Given the description of an element on the screen output the (x, y) to click on. 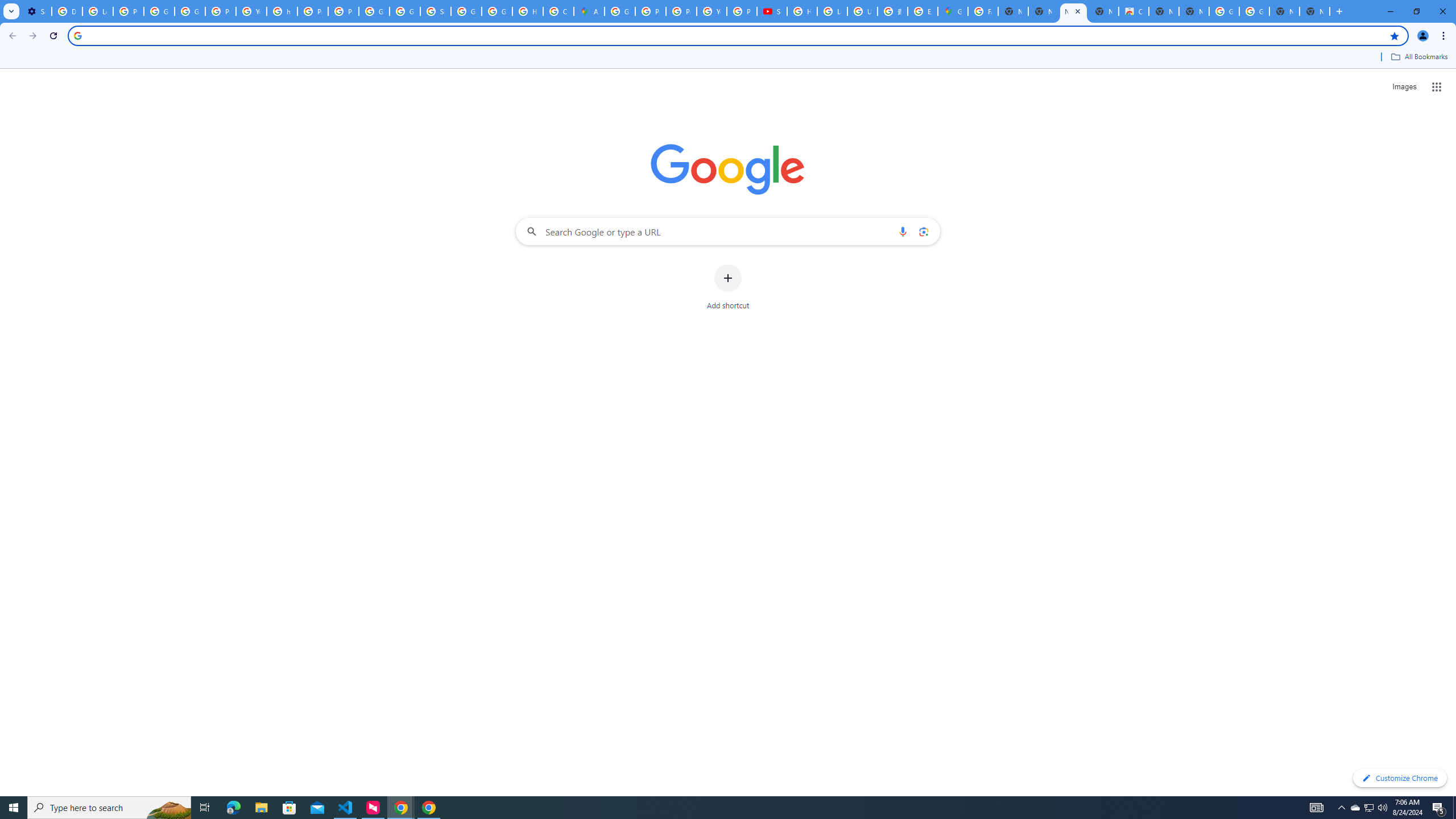
Privacy Help Center - Policies Help (650, 11)
Sign in - Google Accounts (434, 11)
Subscriptions - YouTube (771, 11)
New Tab (1314, 11)
